Given the description of an element on the screen output the (x, y) to click on. 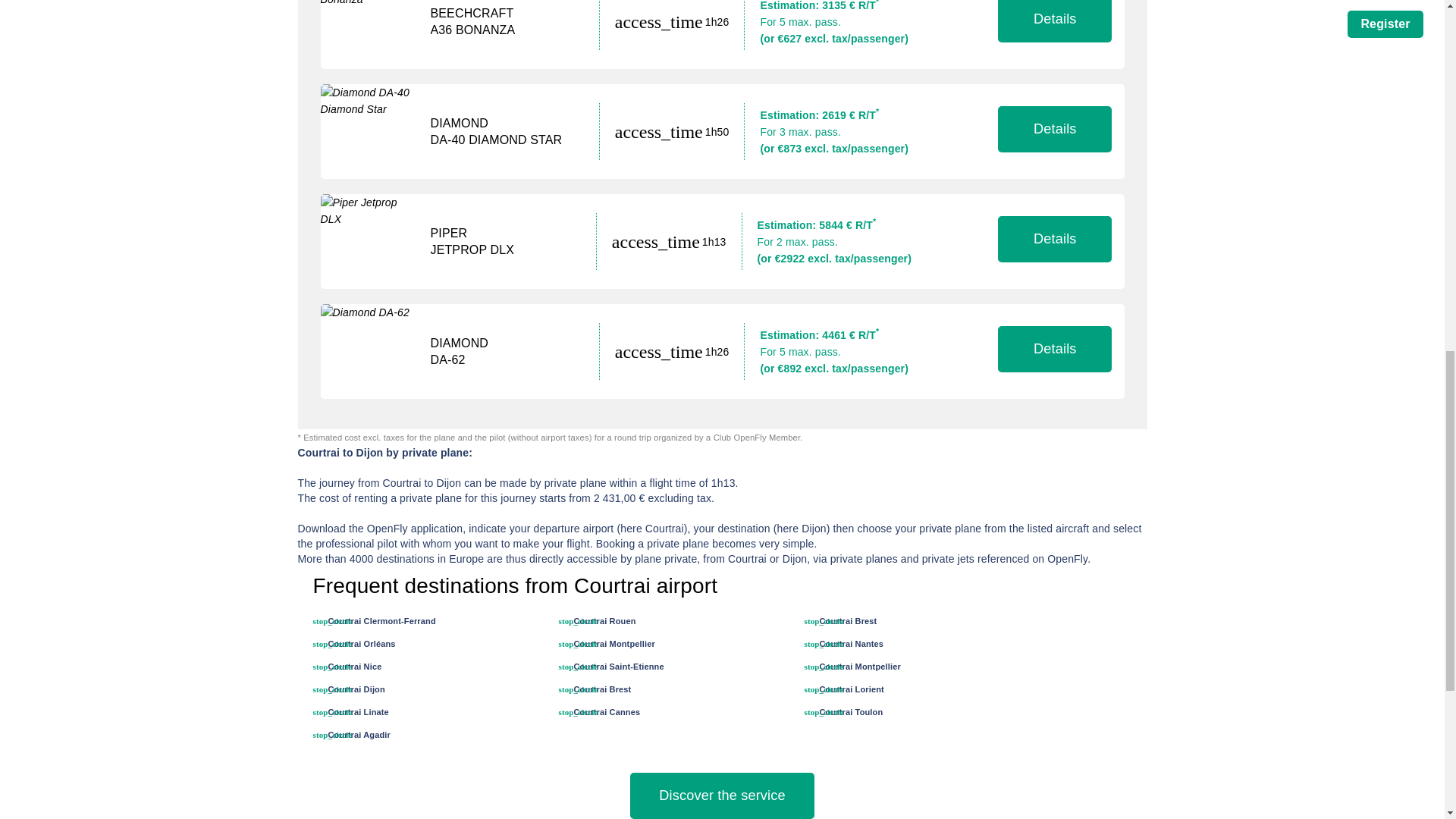
Details (1054, 239)
Details (1054, 21)
Courtrai Lorient (850, 688)
Courtrai Nantes (850, 643)
Courtrai Nice (354, 665)
Details (1054, 129)
Courtrai Dijon (355, 688)
Courtrai Clermont-Ferrand (381, 620)
Courtrai Saint-Etienne (618, 665)
Courtrai Brest (847, 620)
